Given the description of an element on the screen output the (x, y) to click on. 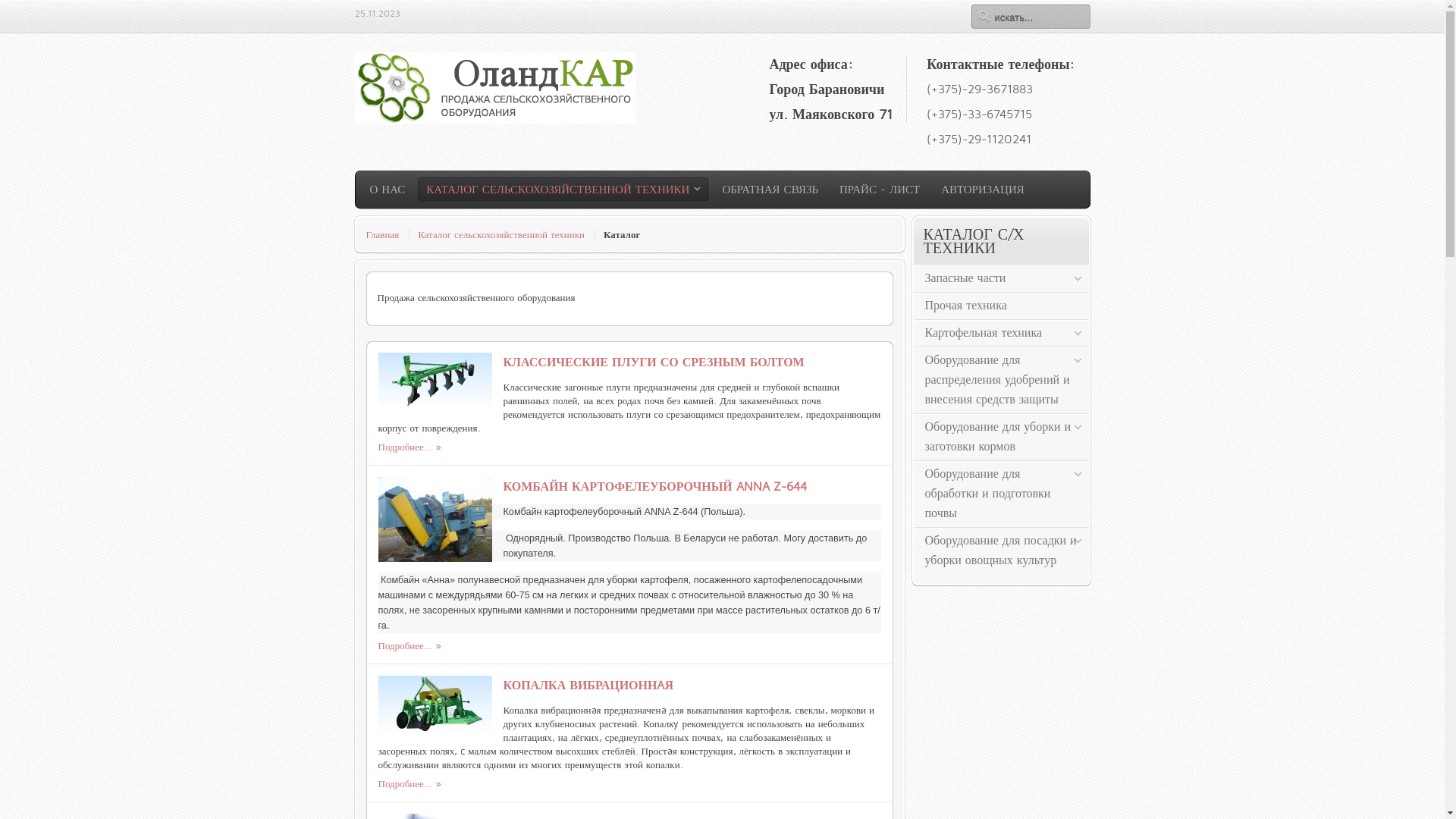
Reset Element type: text (3, 3)
